Given the description of an element on the screen output the (x, y) to click on. 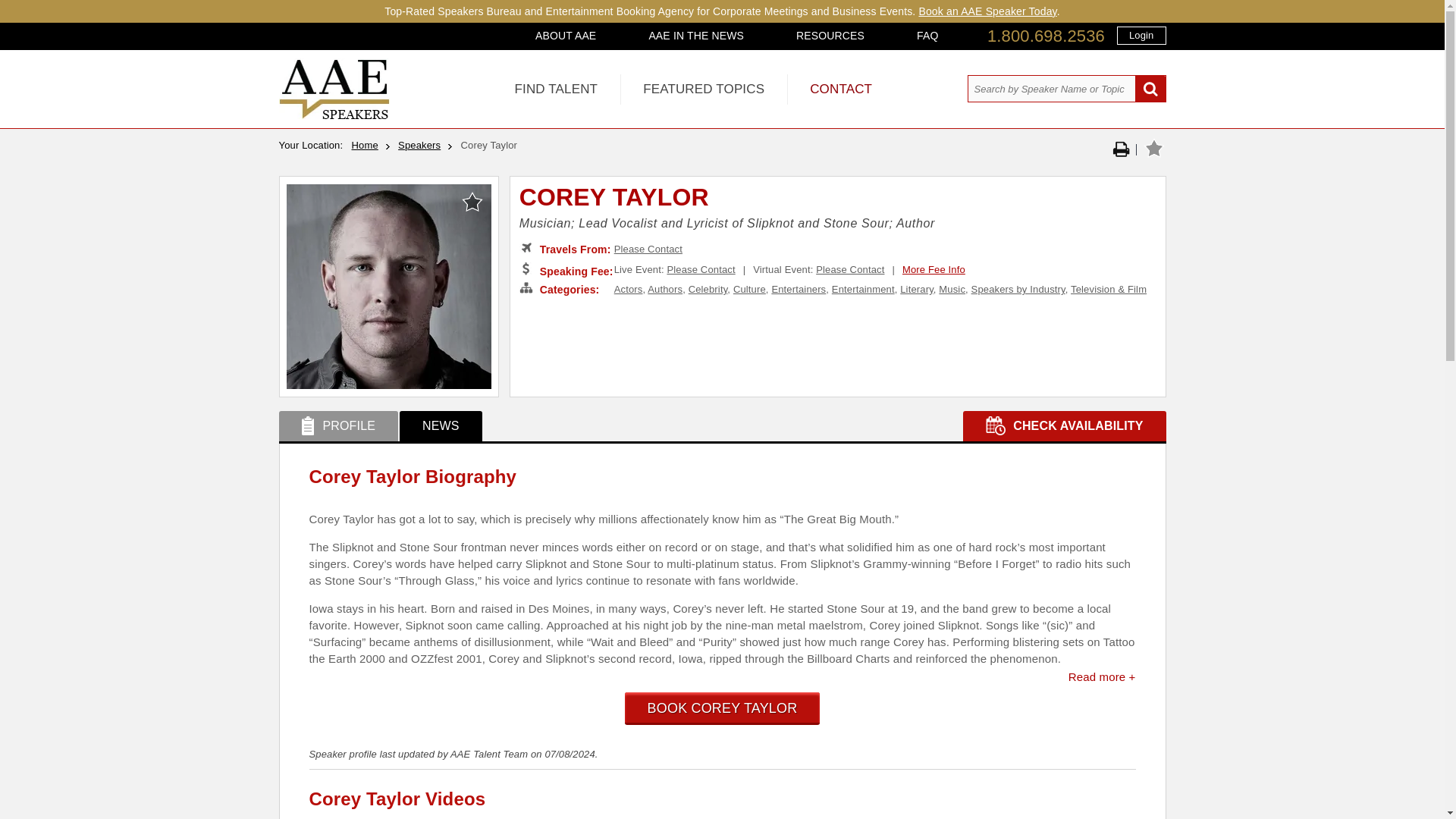
1.800.698.2536 (1046, 35)
AAE IN THE NEWS (695, 34)
Book an AAE Speaker Today (987, 10)
All American Speakers Bureau and Celebrity Booking Agency (334, 115)
Login (1141, 35)
RESOURCES (829, 34)
Search (1150, 89)
ABOUT AAE (565, 34)
FAQ (927, 34)
